Given the description of an element on the screen output the (x, y) to click on. 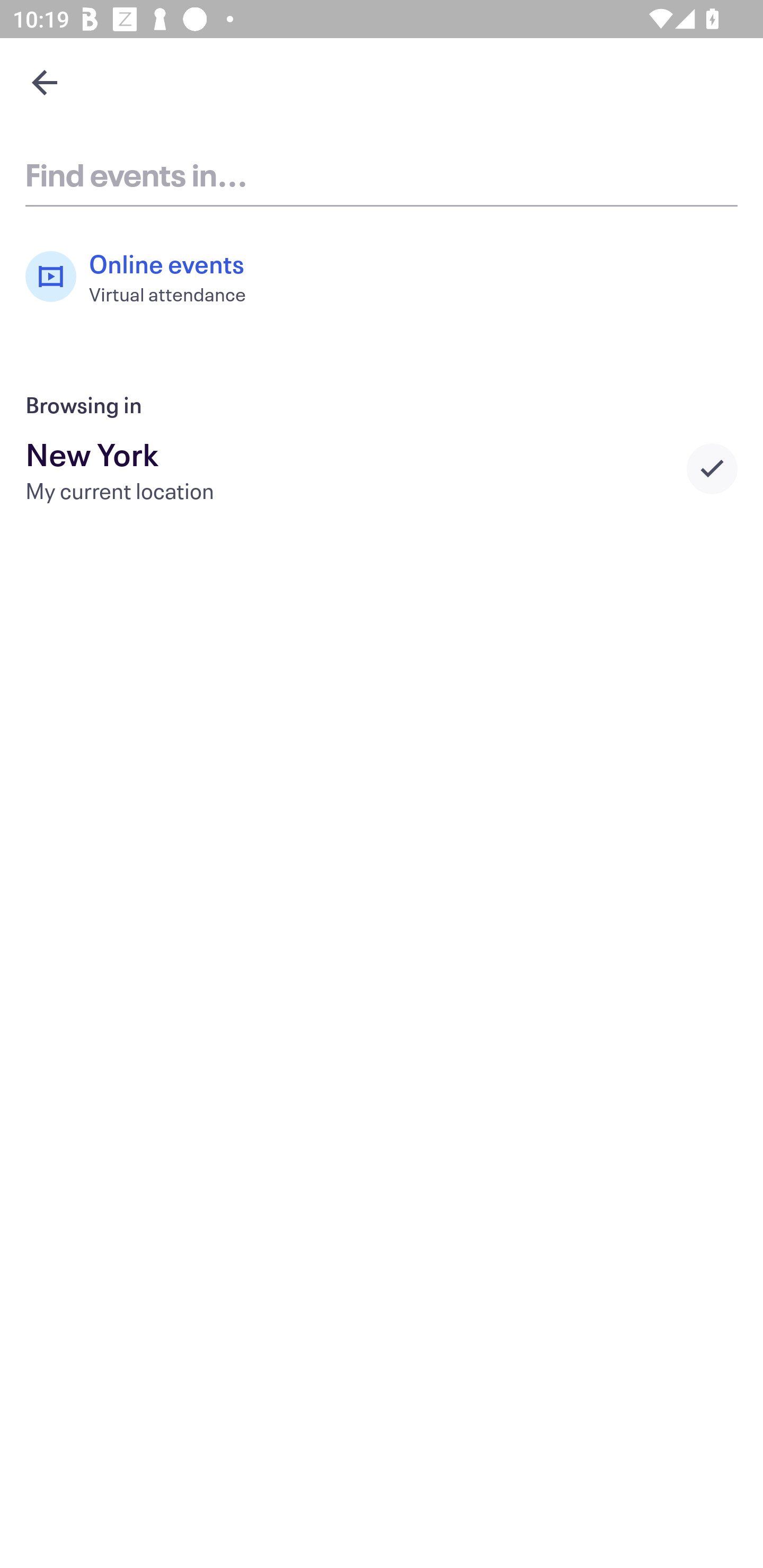
Navigate up (44, 82)
Find events in... (381, 173)
Online events Virtual attendance (144, 276)
New York My current location Selected city (381, 468)
